Given the description of an element on the screen output the (x, y) to click on. 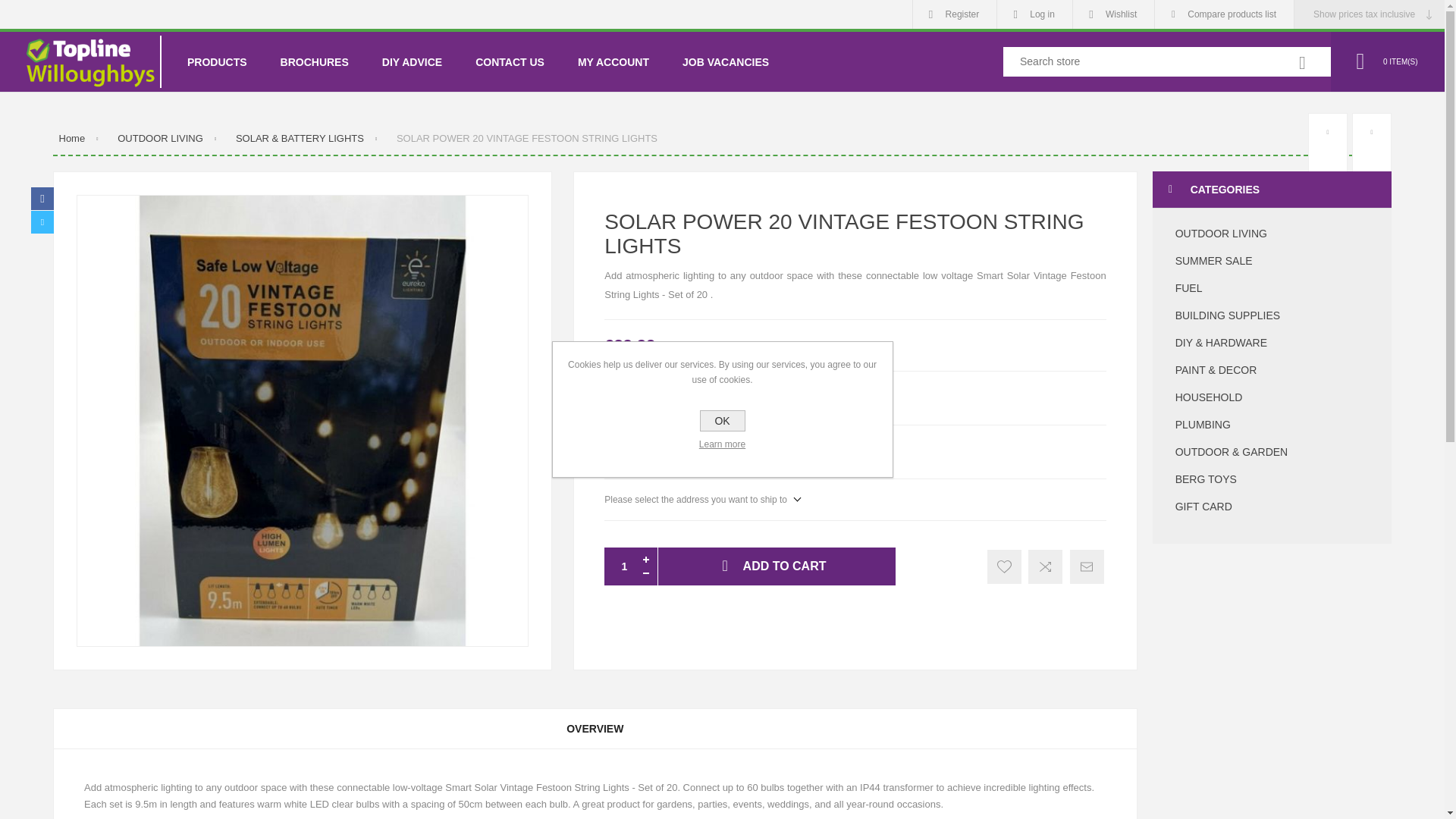
Register (954, 14)
Log in (1034, 14)
Wishlist (1113, 14)
Compare products list (1224, 14)
